Given the description of an element on the screen output the (x, y) to click on. 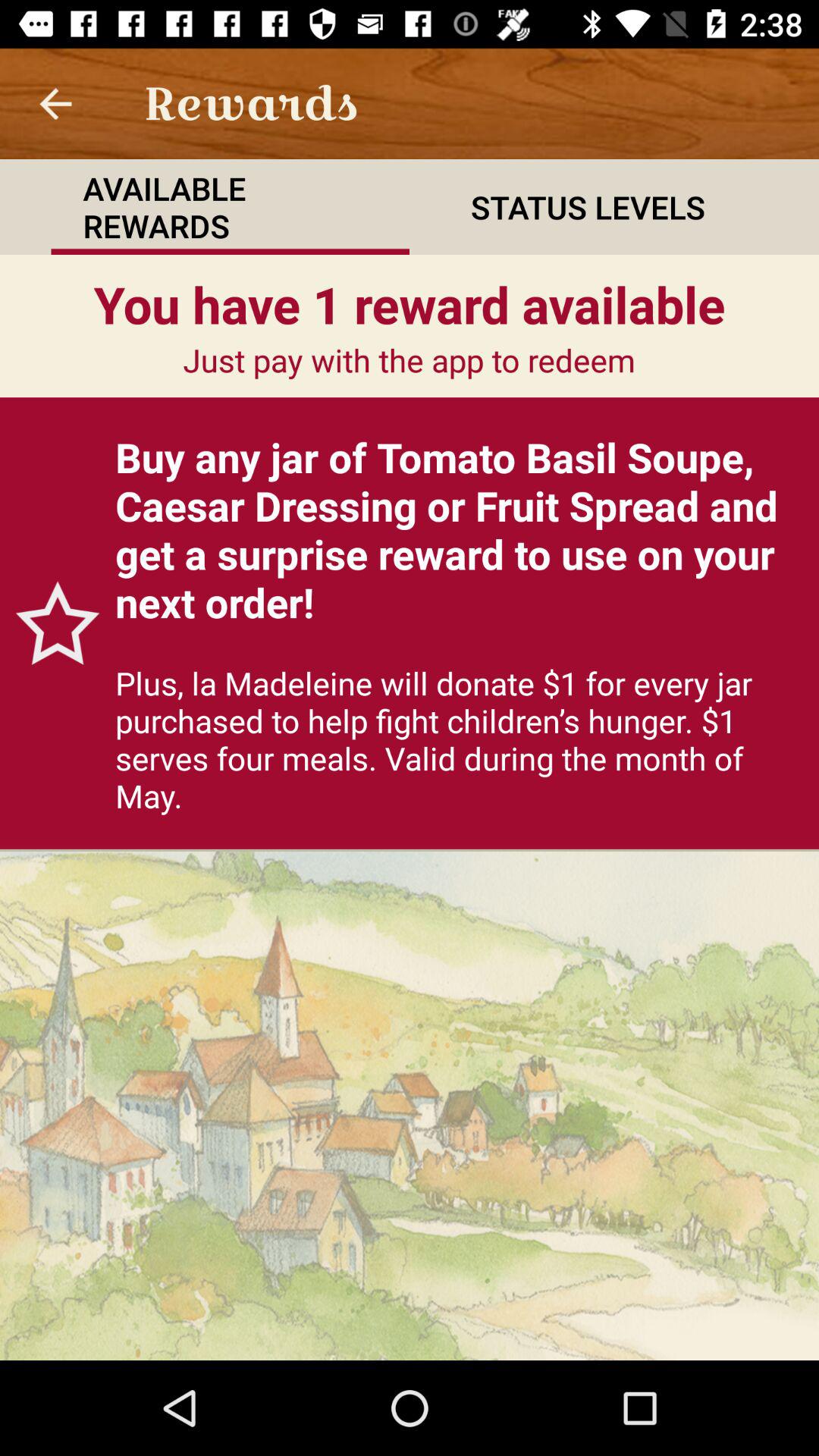
turn on item to the left of the rewards icon (55, 103)
